Given the description of an element on the screen output the (x, y) to click on. 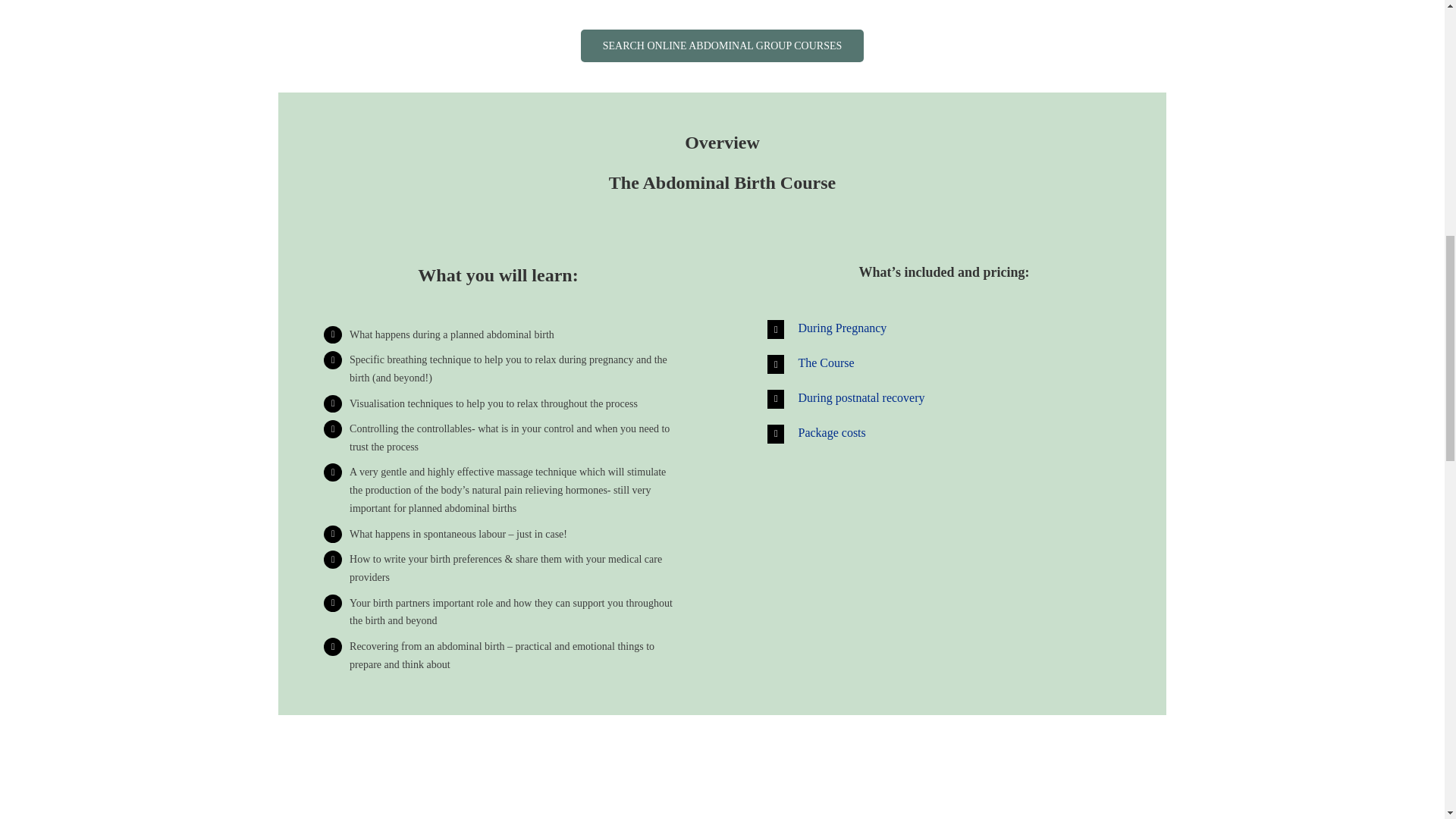
During Pregnancy (943, 329)
SEARCH ONLINE ABDOMINAL GROUP COURSES (722, 45)
The Course (943, 363)
Package costs (943, 433)
During postnatal recovery (943, 398)
